Given the description of an element on the screen output the (x, y) to click on. 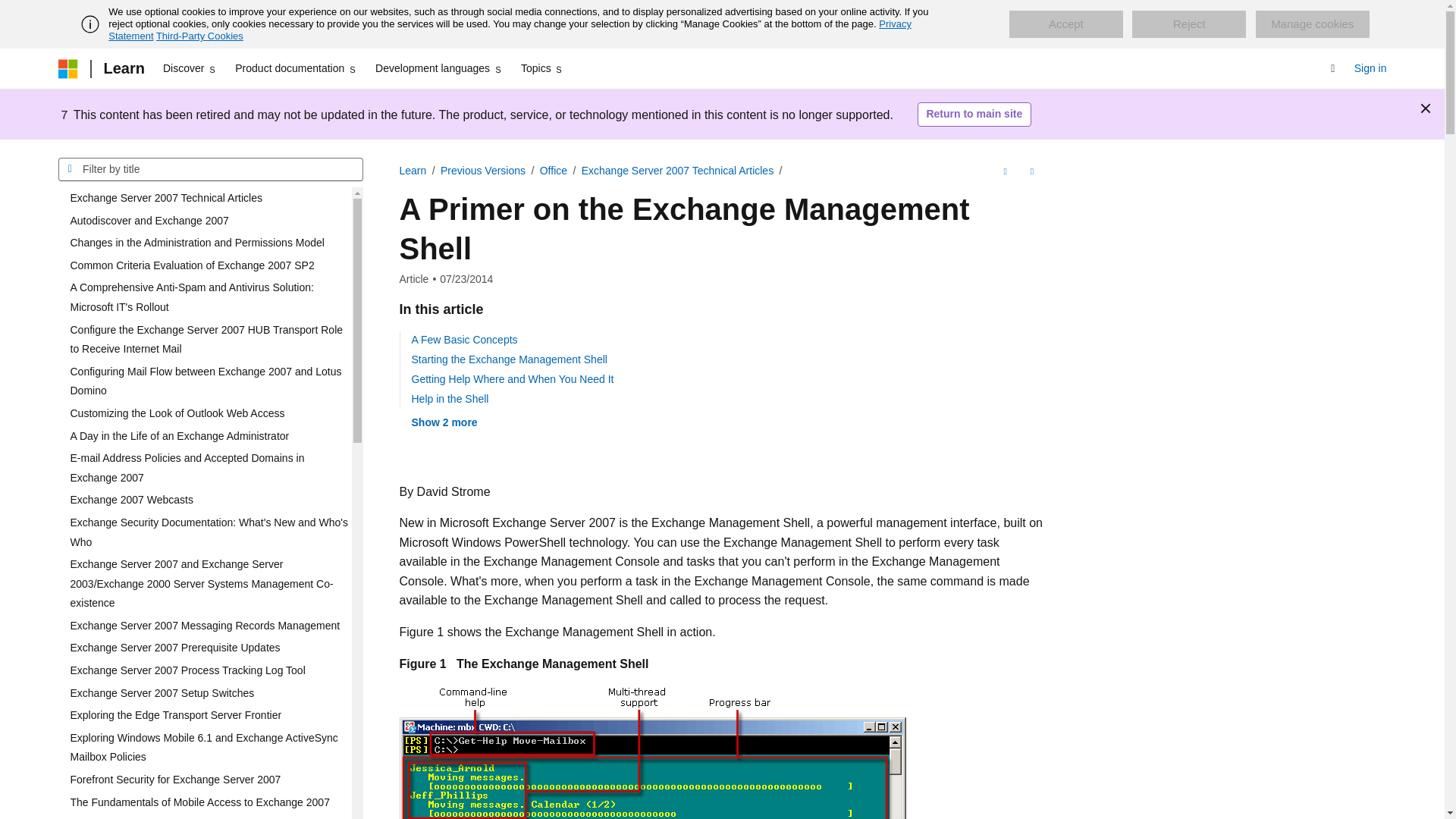
Changes in the Administration and Permissions Model (204, 242)
Exchange Management Shell showing mailbox move (679, 752)
Exchange Server 2007 Technical Articles (204, 198)
Autodiscover and Exchange 2007 (204, 220)
Privacy Statement (509, 29)
More actions (1031, 170)
Return to main site (973, 114)
Discover (189, 68)
Learn (123, 68)
